Given the description of an element on the screen output the (x, y) to click on. 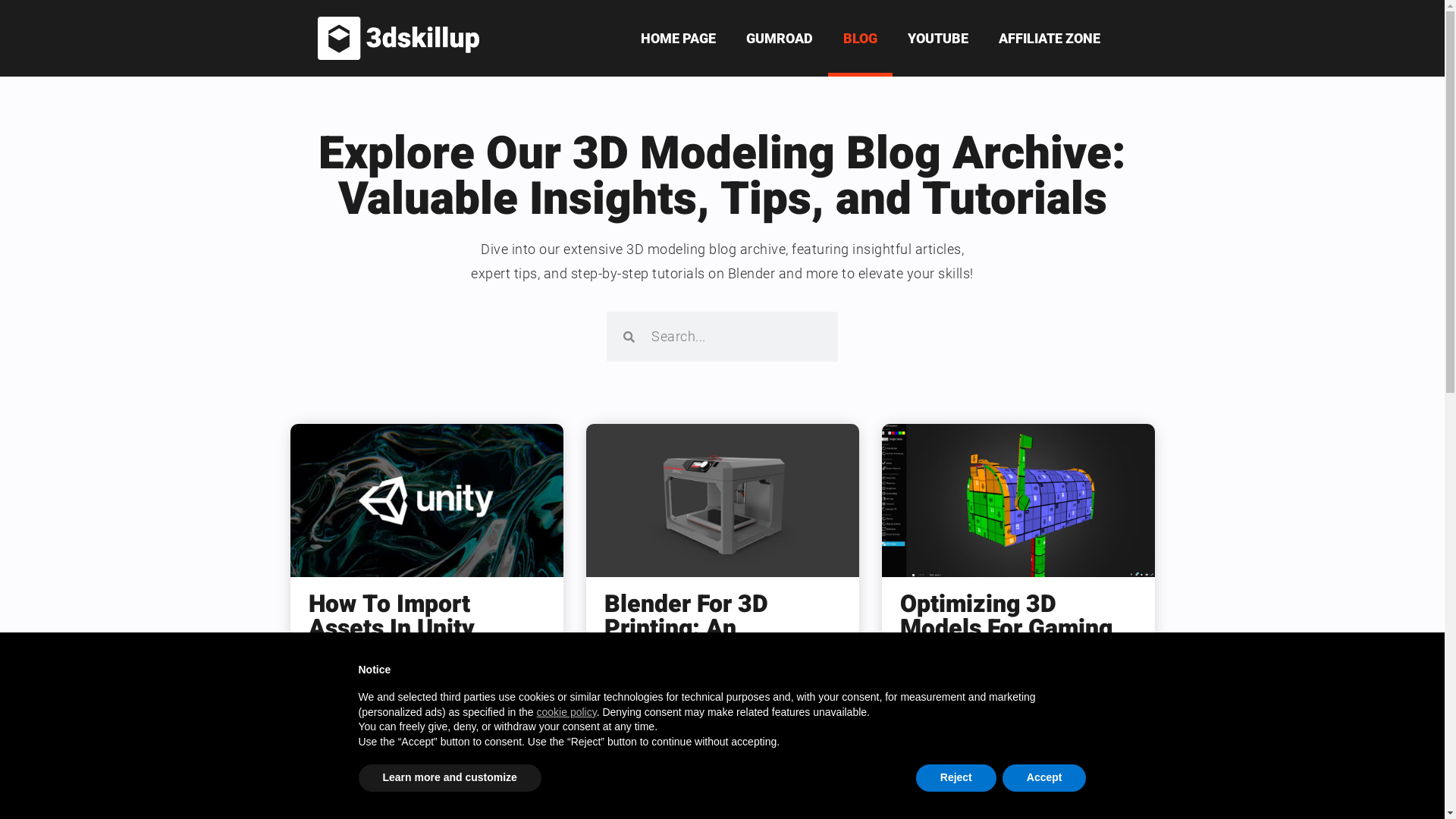
Blender For 3D Printing: An Introduction Element type: text (685, 628)
Accept Element type: text (1044, 777)
Learn more and customize Element type: text (448, 777)
Reject Element type: text (956, 777)
GUMROAD Element type: text (779, 38)
Optimizing 3D Models For Gaming Element type: text (1005, 616)
cookie policy Element type: text (566, 712)
BLOG Element type: text (860, 38)
AFFILIATE ZONE Element type: text (1048, 38)
HOME PAGE Element type: text (677, 38)
YOUTUBE Element type: text (936, 38)
How To Import Assets In Unity Element type: text (390, 616)
